Given the description of an element on the screen output the (x, y) to click on. 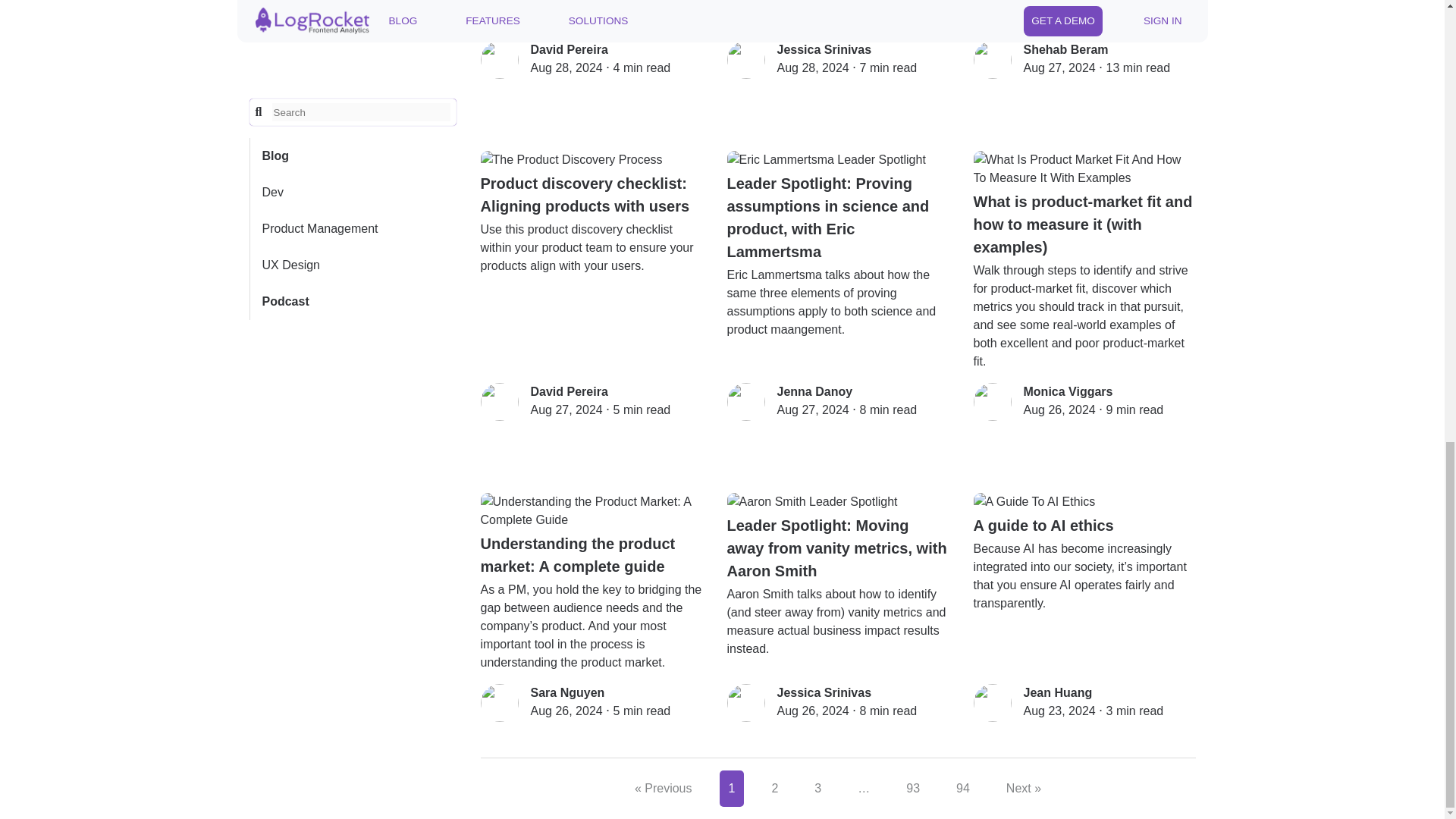
David Pereira (569, 49)
Jessica Srinivas (823, 49)
Shehab Beram (1065, 49)
Product discovery checklist: Aligning products with users (591, 183)
David Pereira (569, 391)
